Given the description of an element on the screen output the (x, y) to click on. 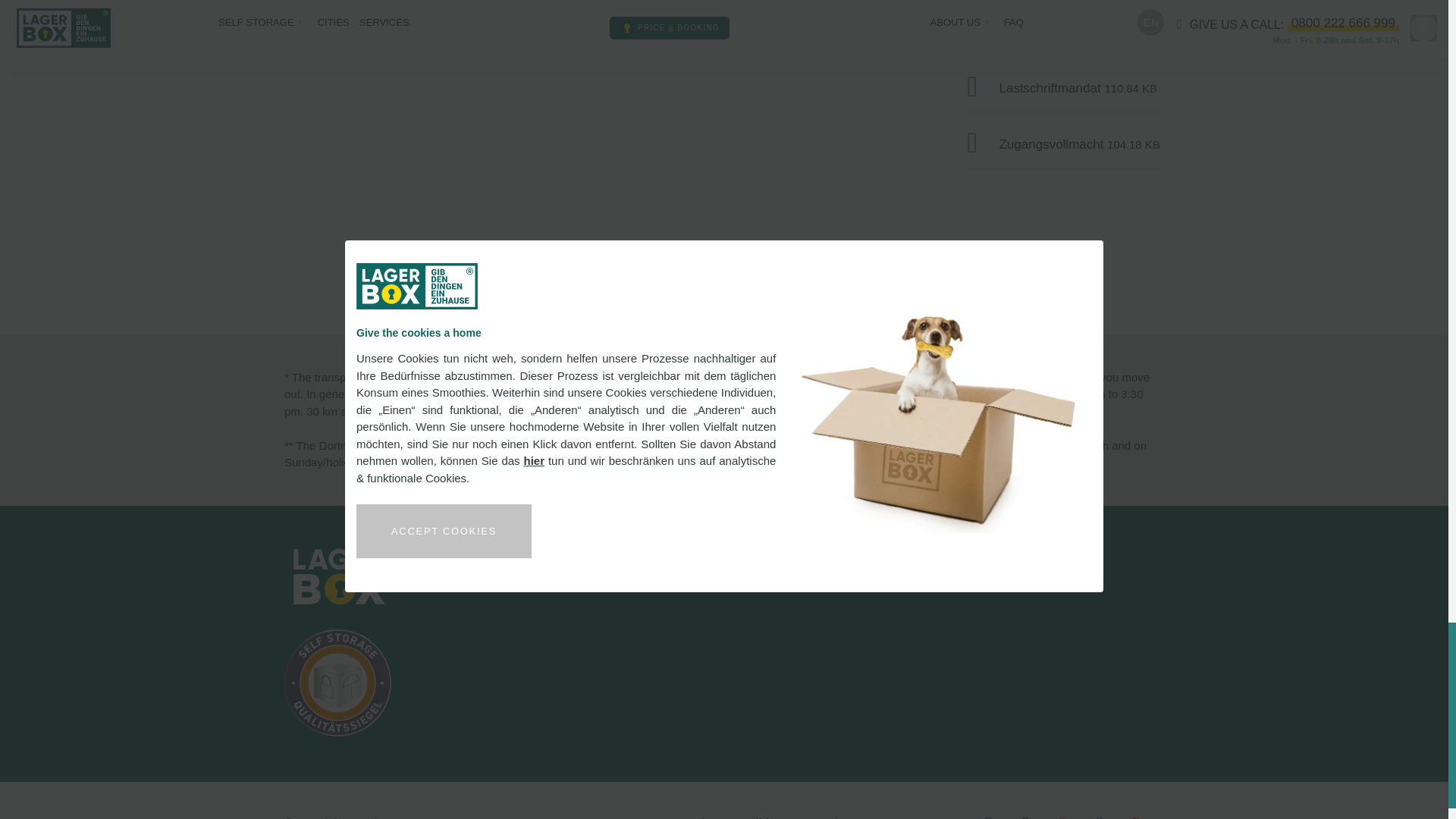
Anschriftenaenderung 38.26 KB (1061, 31)
LAGERBOX Startseite (338, 576)
Zugangsvollmacht 104.18 KB (1061, 142)
Lastschriftmandat 110.84 KB (1061, 86)
